Given the description of an element on the screen output the (x, y) to click on. 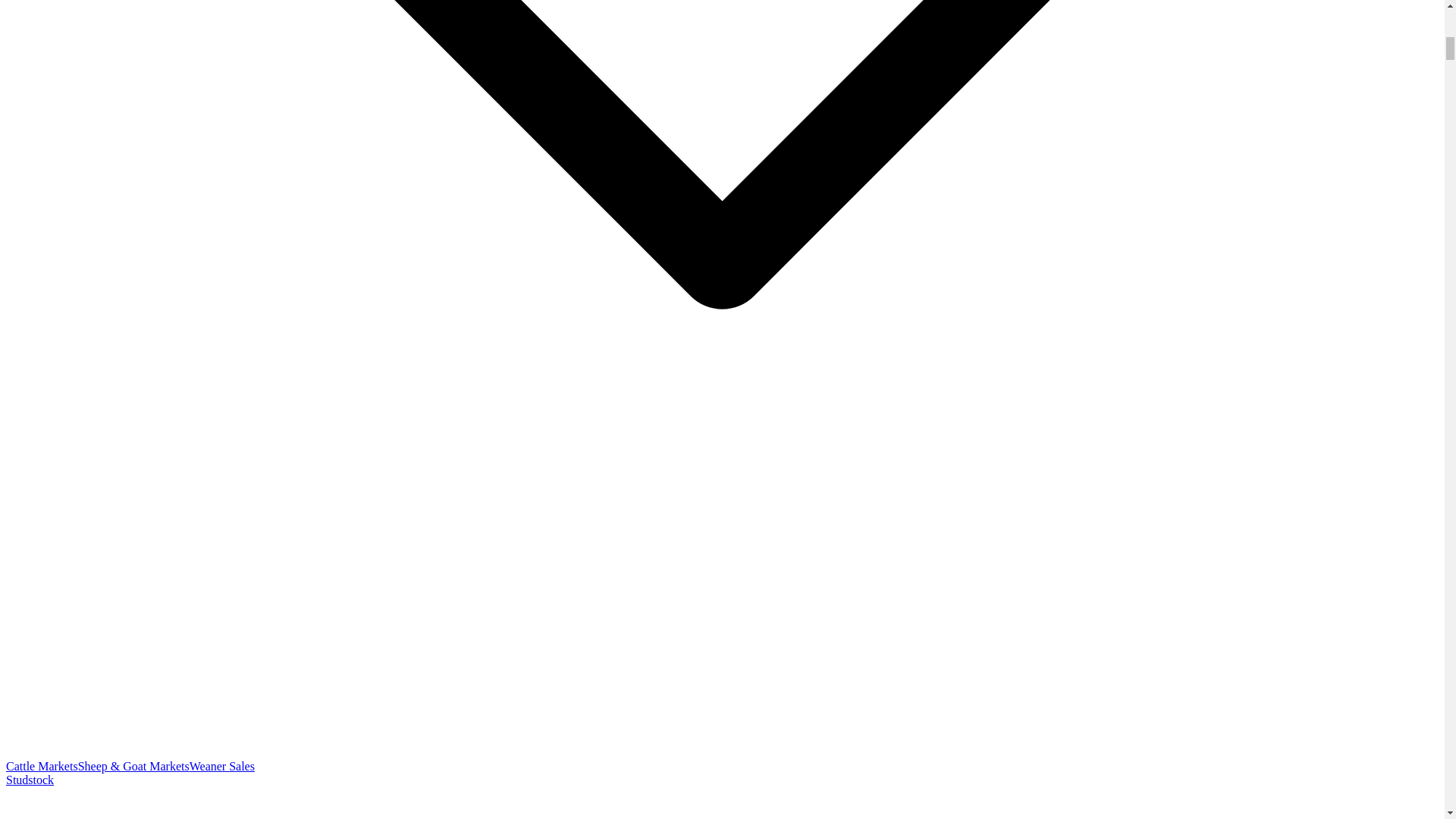
Studstock (29, 779)
Cattle Markets (41, 766)
Weaner Sales (221, 766)
